Given the description of an element on the screen output the (x, y) to click on. 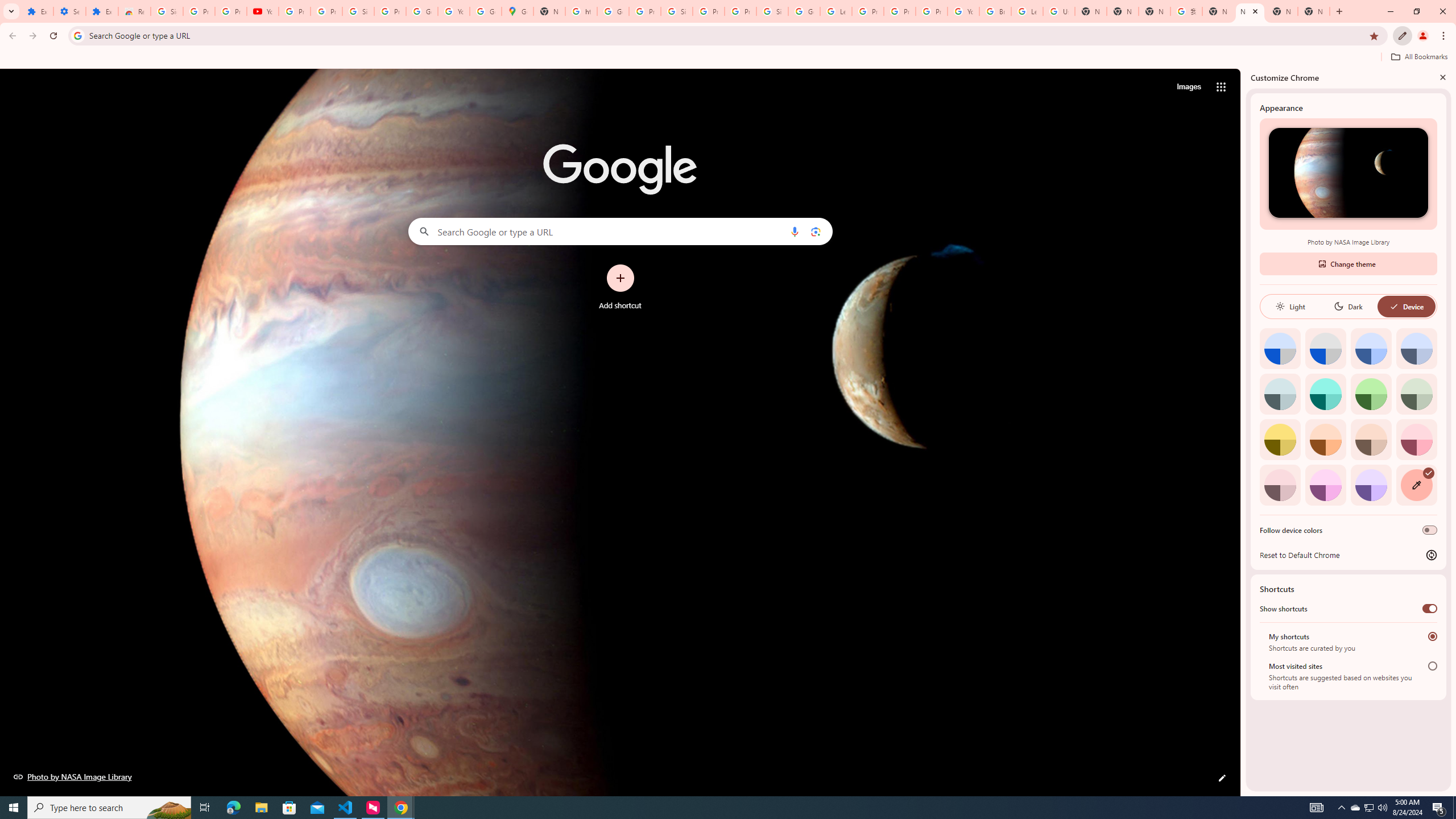
Orange (1325, 439)
Viridian (1416, 393)
AutomationID: svg (1428, 472)
My shortcuts (1432, 636)
Settings (69, 11)
Dark (1348, 305)
https://scholar.google.com/ (581, 11)
Photo by NASA Image Library (72, 776)
